Given the description of an element on the screen output the (x, y) to click on. 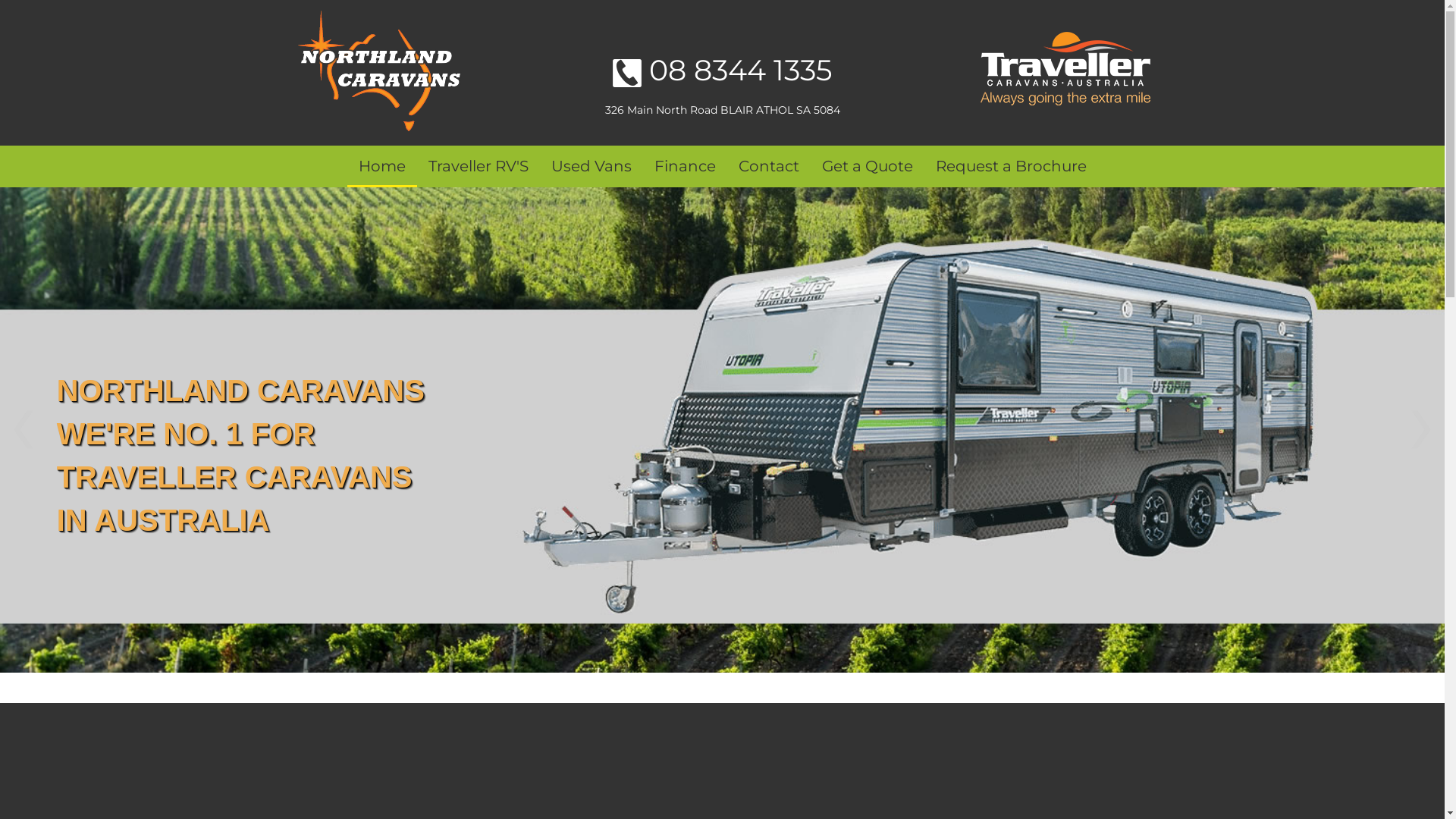
Used Vans Element type: text (591, 167)
Get a Quote Element type: text (866, 167)
Contact Element type: text (767, 167)
Finance Element type: text (685, 167)
Request a Brochure Element type: text (1010, 167)
Home Element type: text (382, 167)
Traveller RV'S Element type: text (478, 167)
